Given the description of an element on the screen output the (x, y) to click on. 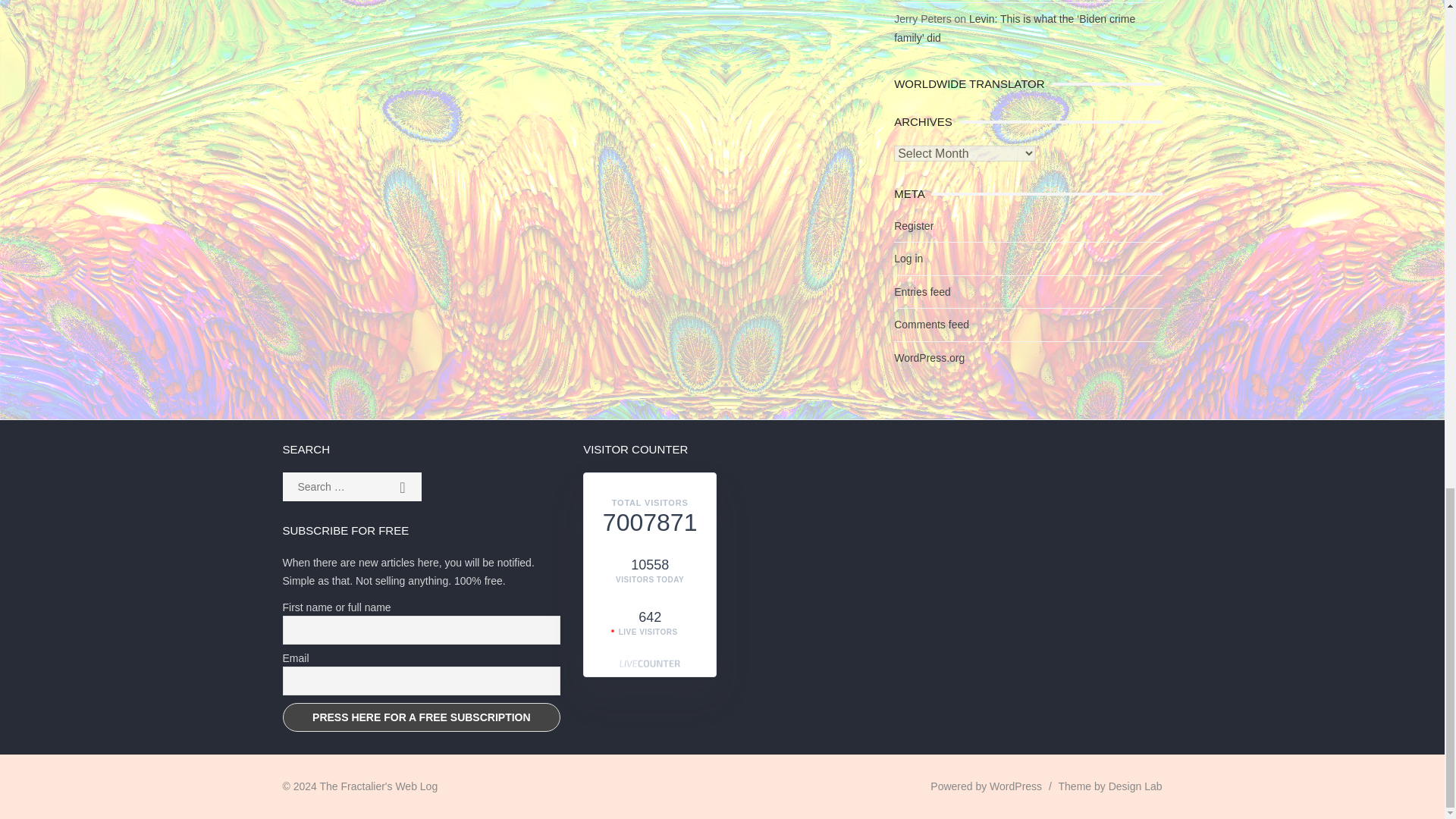
Press Here For A Free Subscription (421, 717)
